Given the description of an element on the screen output the (x, y) to click on. 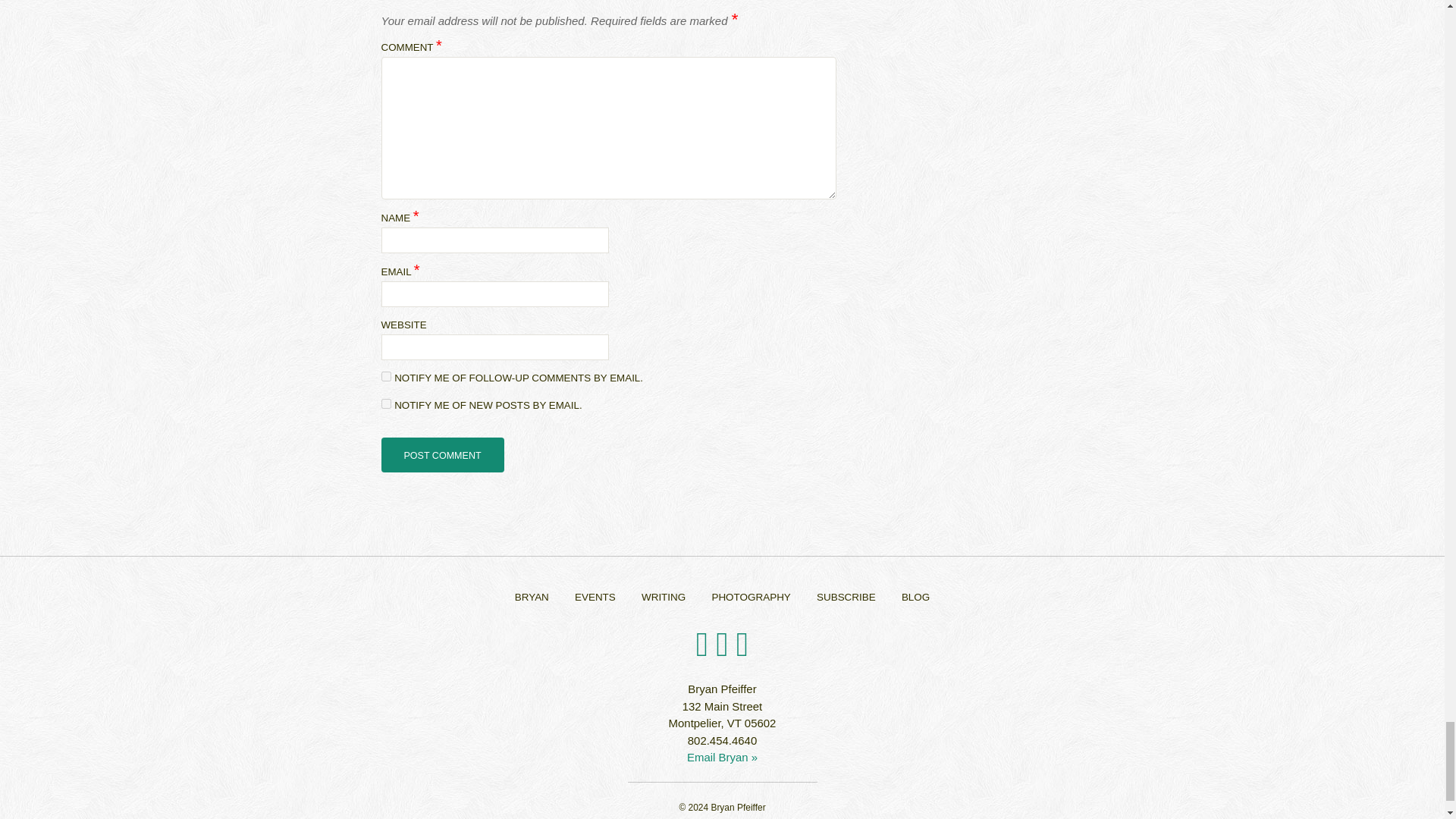
subscribe (385, 376)
subscribe (385, 403)
Post Comment (441, 454)
